Given the description of an element on the screen output the (x, y) to click on. 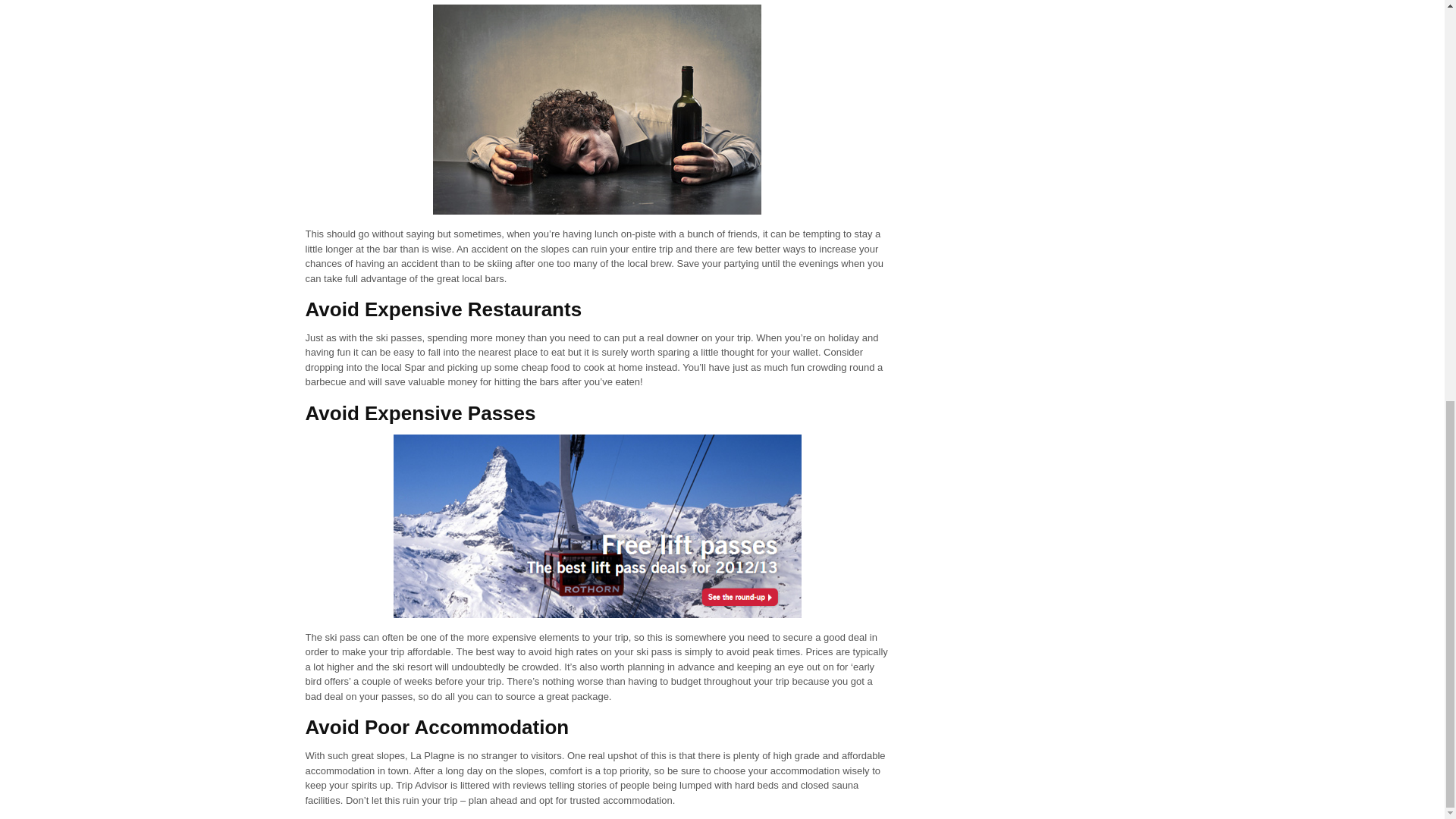
free lift pass (596, 526)
Much Drunk (596, 109)
